Given the description of an element on the screen output the (x, y) to click on. 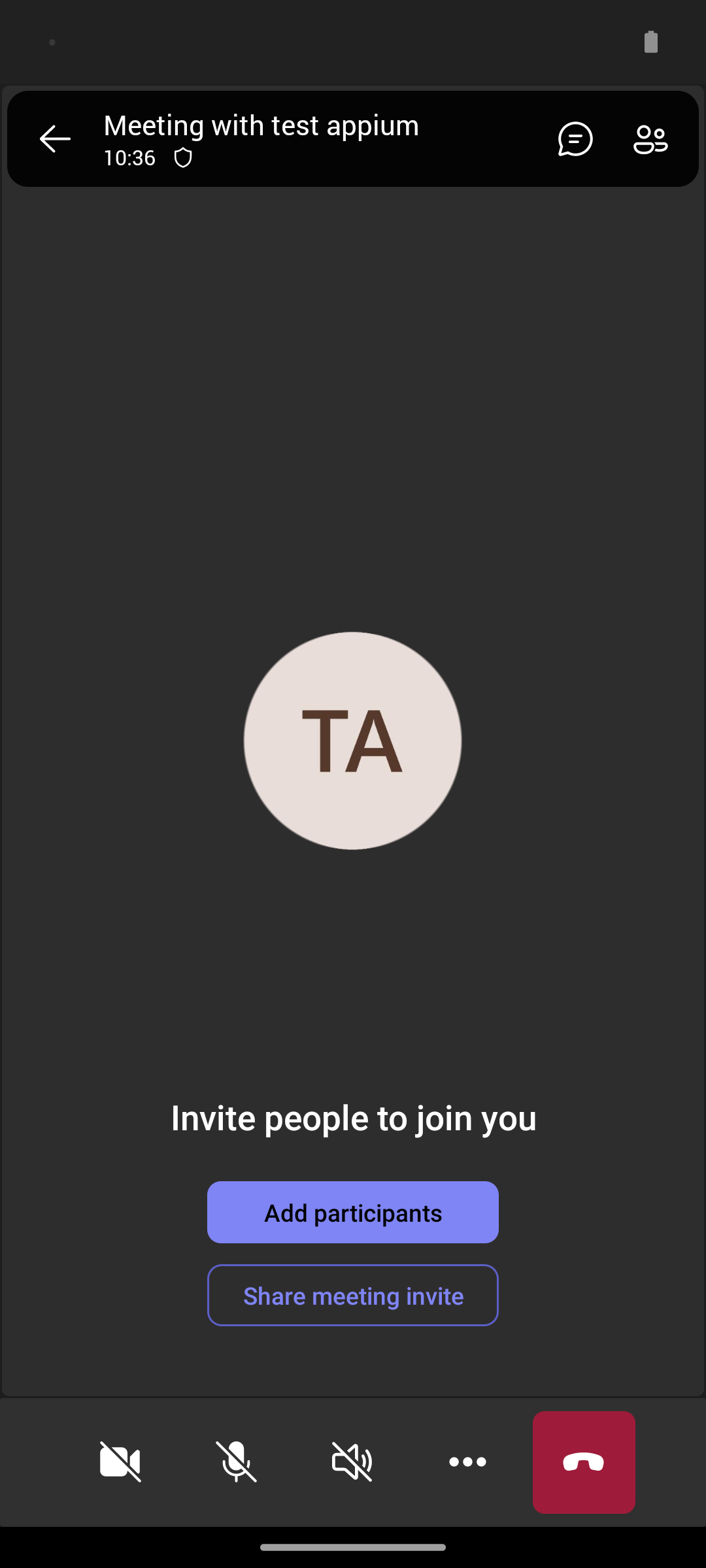
Back (55, 138)
Chat (570, 138)
Show participants (655, 138)
Add participants (352, 1211)
Share meeting invite (352, 1294)
Turn on camera (120, 1462)
Unmute (236, 1462)
Audio (352, 1462)
More options (468, 1462)
Hang up (584, 1462)
